Given the description of an element on the screen output the (x, y) to click on. 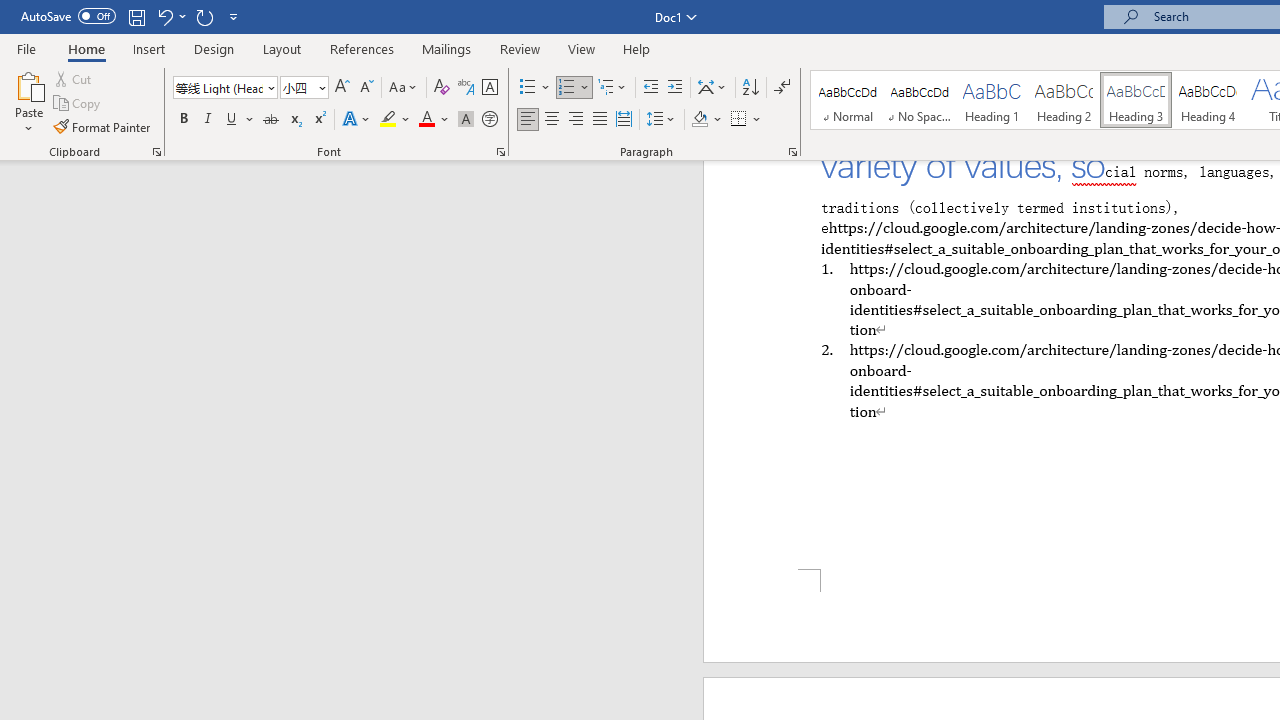
Heading 3 (1135, 100)
Distributed (623, 119)
Enclose Characters... (489, 119)
Font Color (434, 119)
Increase Indent (675, 87)
Strikethrough (270, 119)
Multilevel List (613, 87)
Text Highlight Color (395, 119)
Character Shading (465, 119)
